Given the description of an element on the screen output the (x, y) to click on. 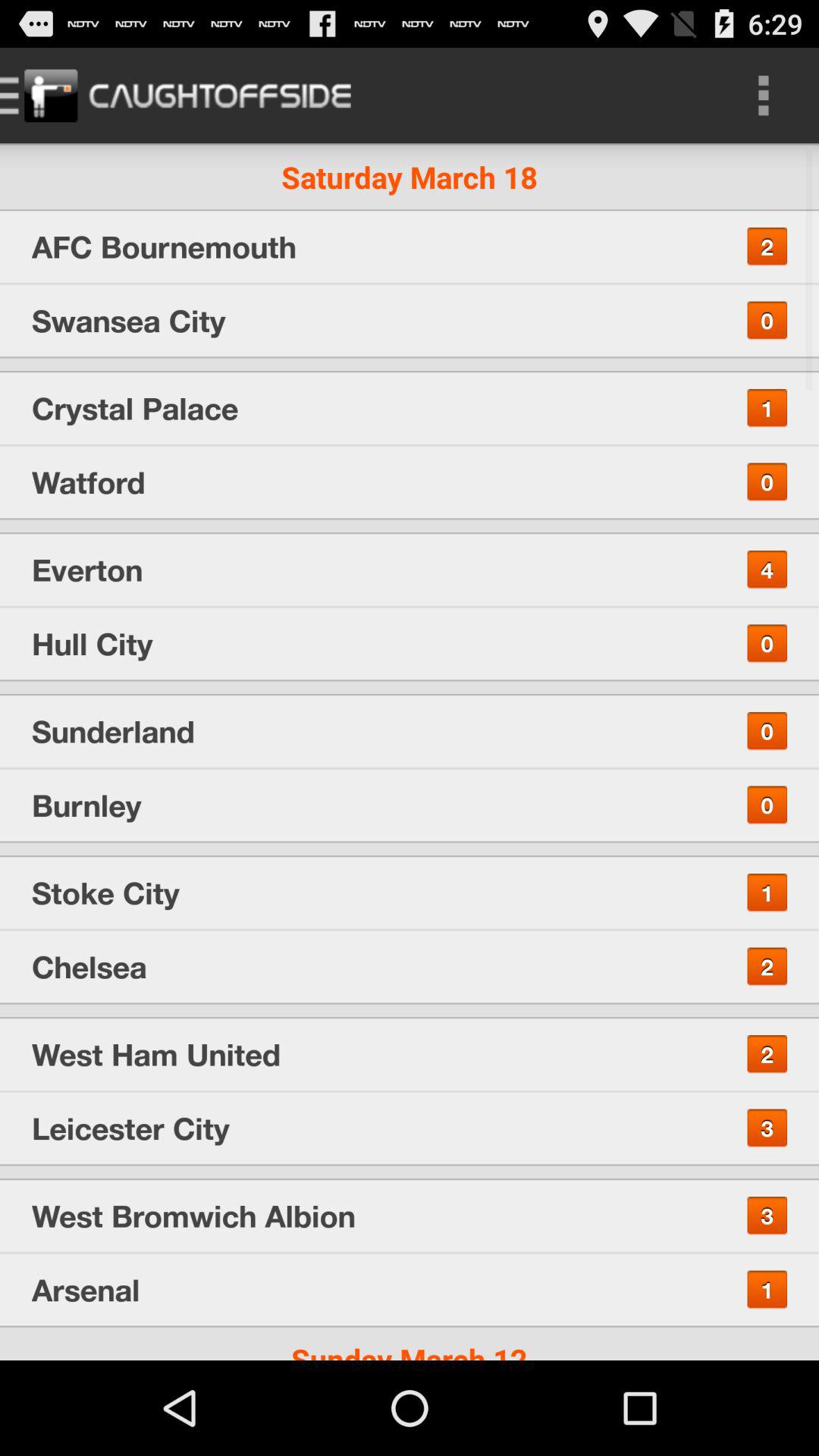
choose item next to the saturday march 18 item (763, 95)
